Given the description of an element on the screen output the (x, y) to click on. 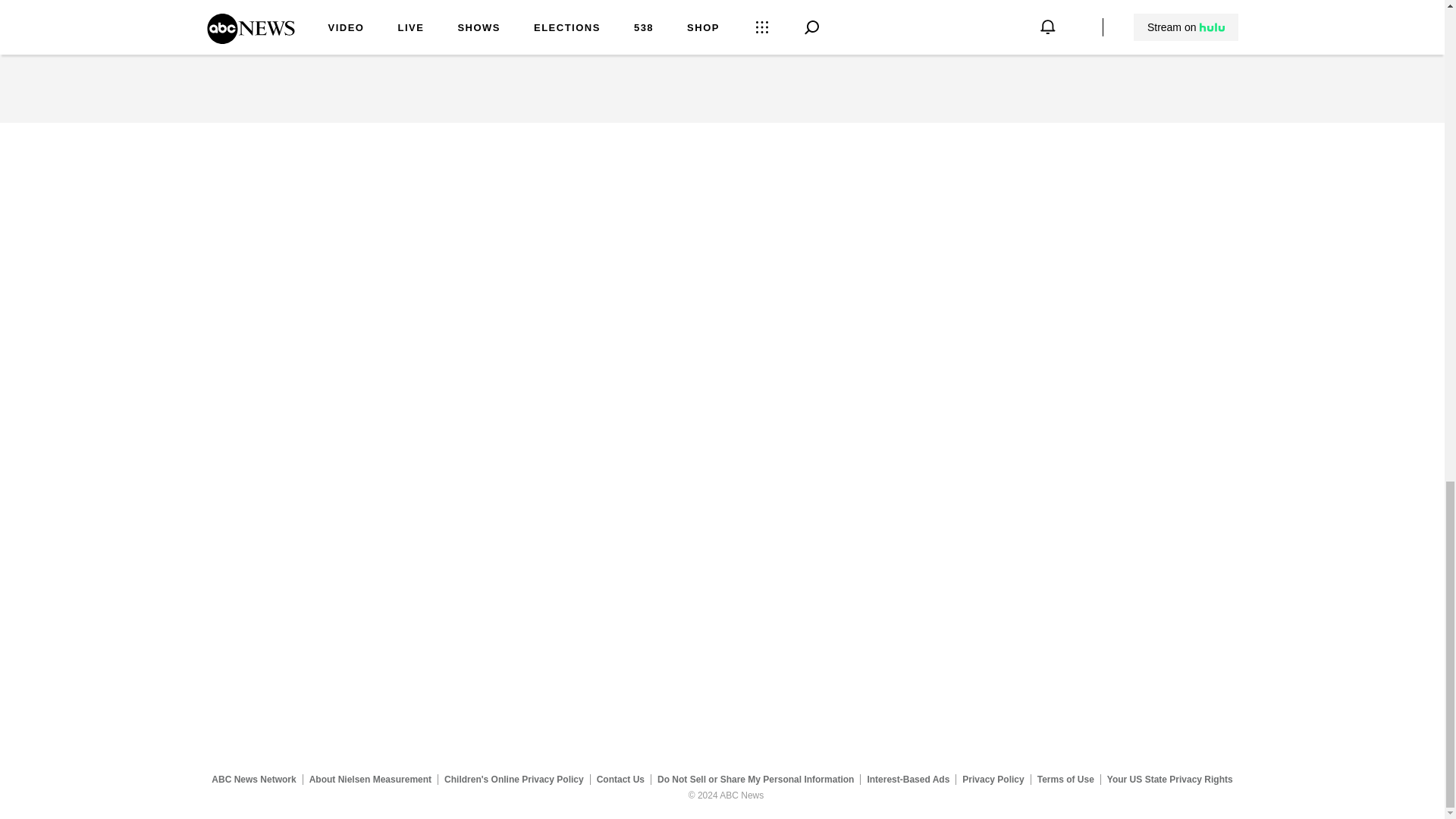
Children's Online Privacy Policy (514, 778)
Do Not Sell or Share My Personal Information (755, 778)
ABC News Network (253, 778)
About Nielsen Measurement (370, 778)
Your US State Privacy Rights (1169, 778)
Interest-Based Ads (908, 778)
Contact Us (620, 778)
Privacy Policy (993, 778)
Terms of Use (1065, 778)
